Given the description of an element on the screen output the (x, y) to click on. 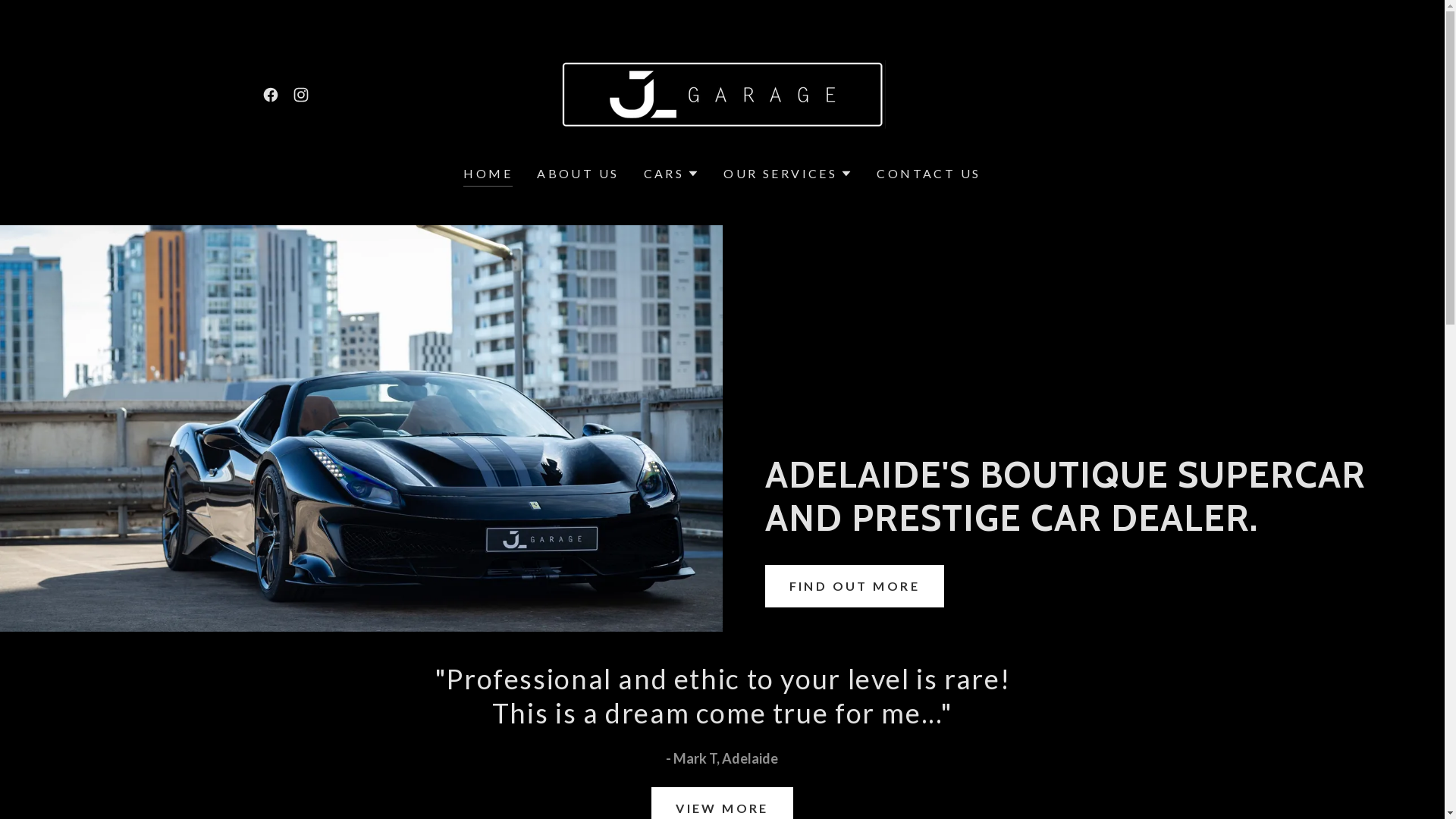
JL Garage Element type: hover (722, 92)
CONTACT US Element type: text (928, 173)
ABOUT US Element type: text (577, 173)
OUR SERVICES Element type: text (787, 173)
CARS Element type: text (671, 173)
HOME Element type: text (487, 175)
FIND OUT MORE Element type: text (854, 585)
